Given the description of an element on the screen output the (x, y) to click on. 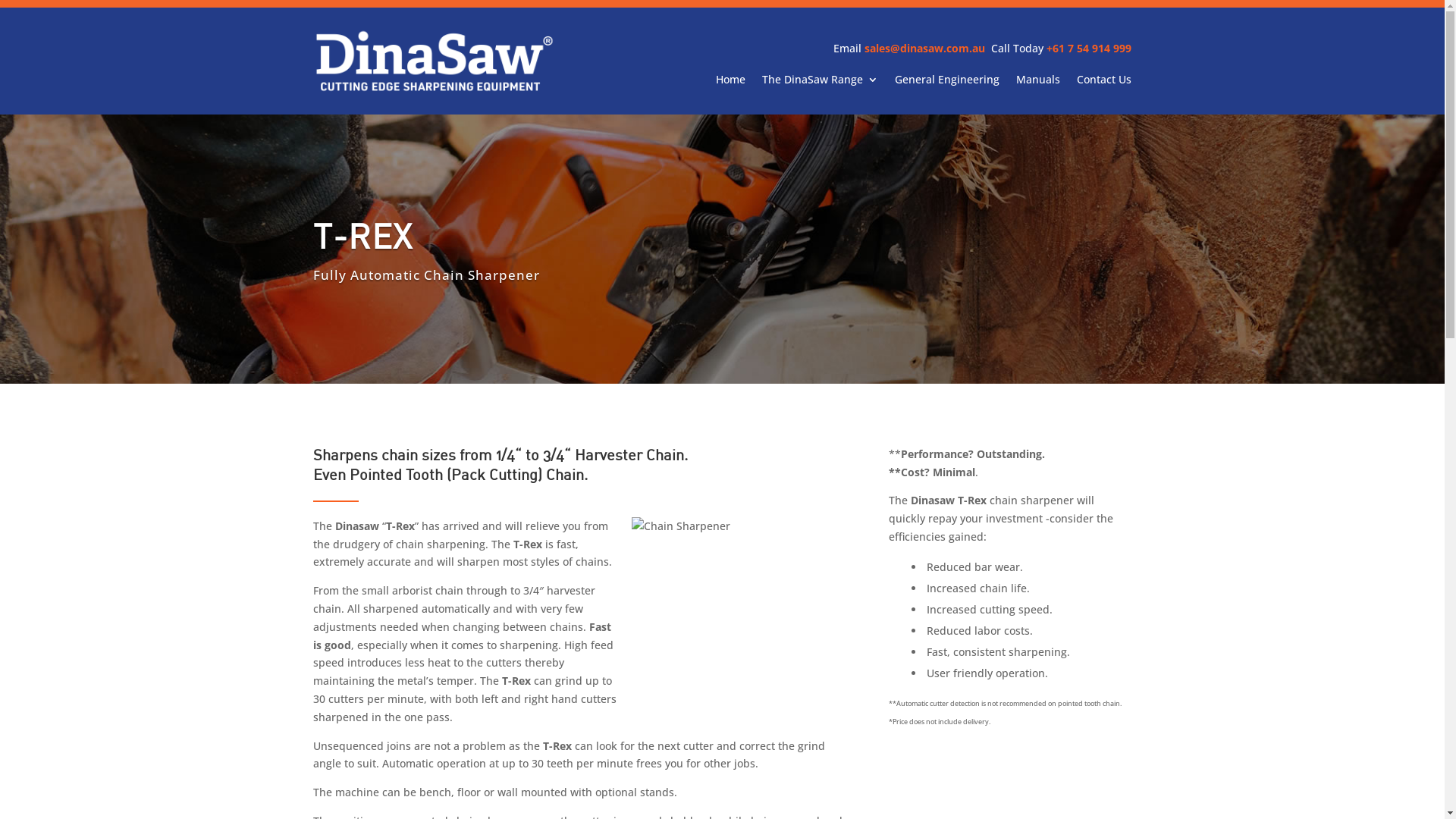
sales@dinasaw.com.au Element type: text (924, 47)
dinasaw_reversed_400px Element type: hover (433, 61)
Contact Us Element type: text (1103, 82)
Manuals Element type: text (1038, 82)
+61 7 54 914 999 Element type: text (1088, 47)
General Engineering Element type: text (946, 82)
The DinaSaw Range Element type: text (820, 82)
Home Element type: text (730, 82)
